Given the description of an element on the screen output the (x, y) to click on. 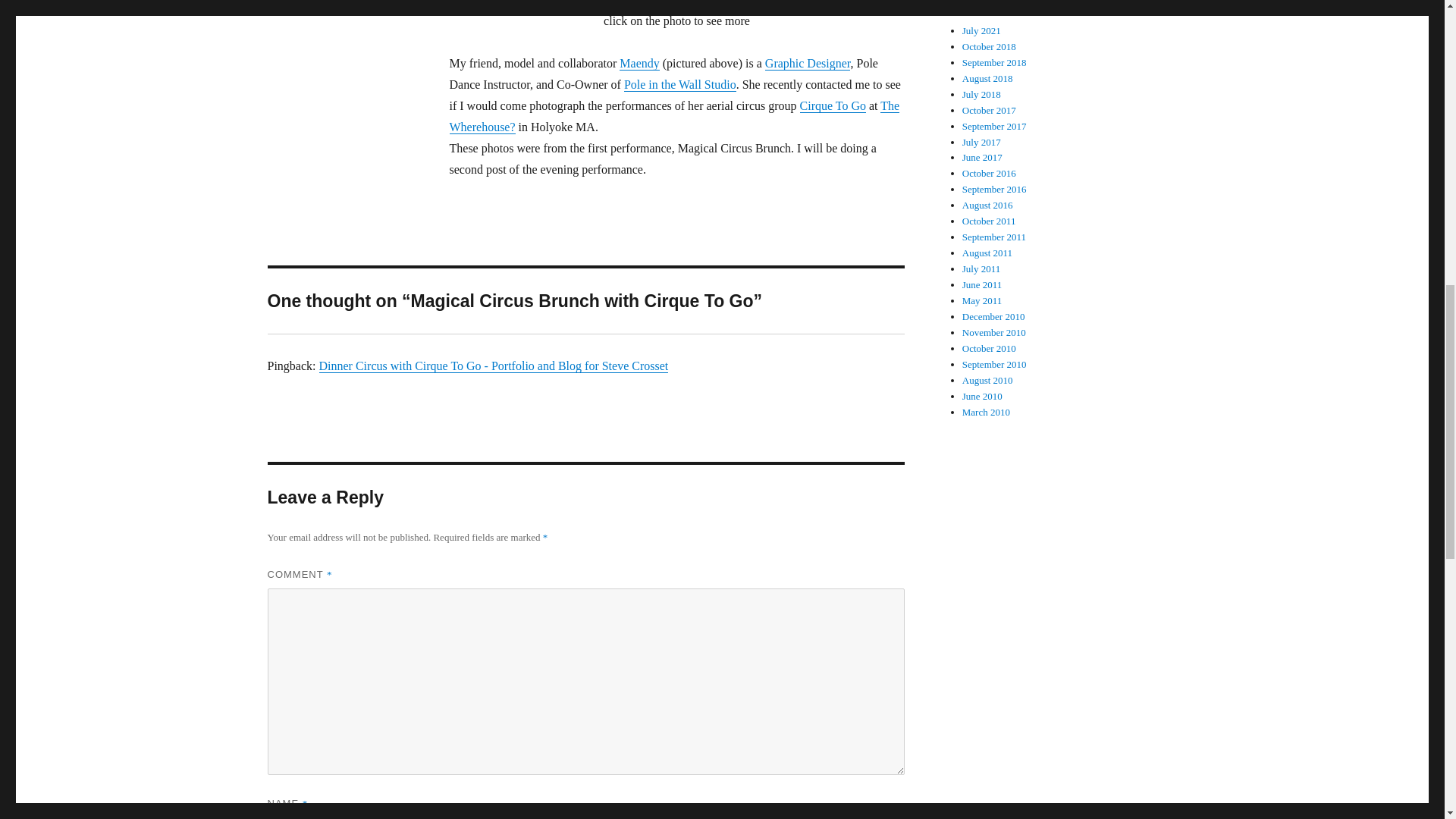
The Wherehouse? (673, 116)
Pole in the Wall Studio (680, 83)
Cirque To Go (832, 105)
Maendy (639, 62)
Graphic Designer (807, 62)
